Given the description of an element on the screen output the (x, y) to click on. 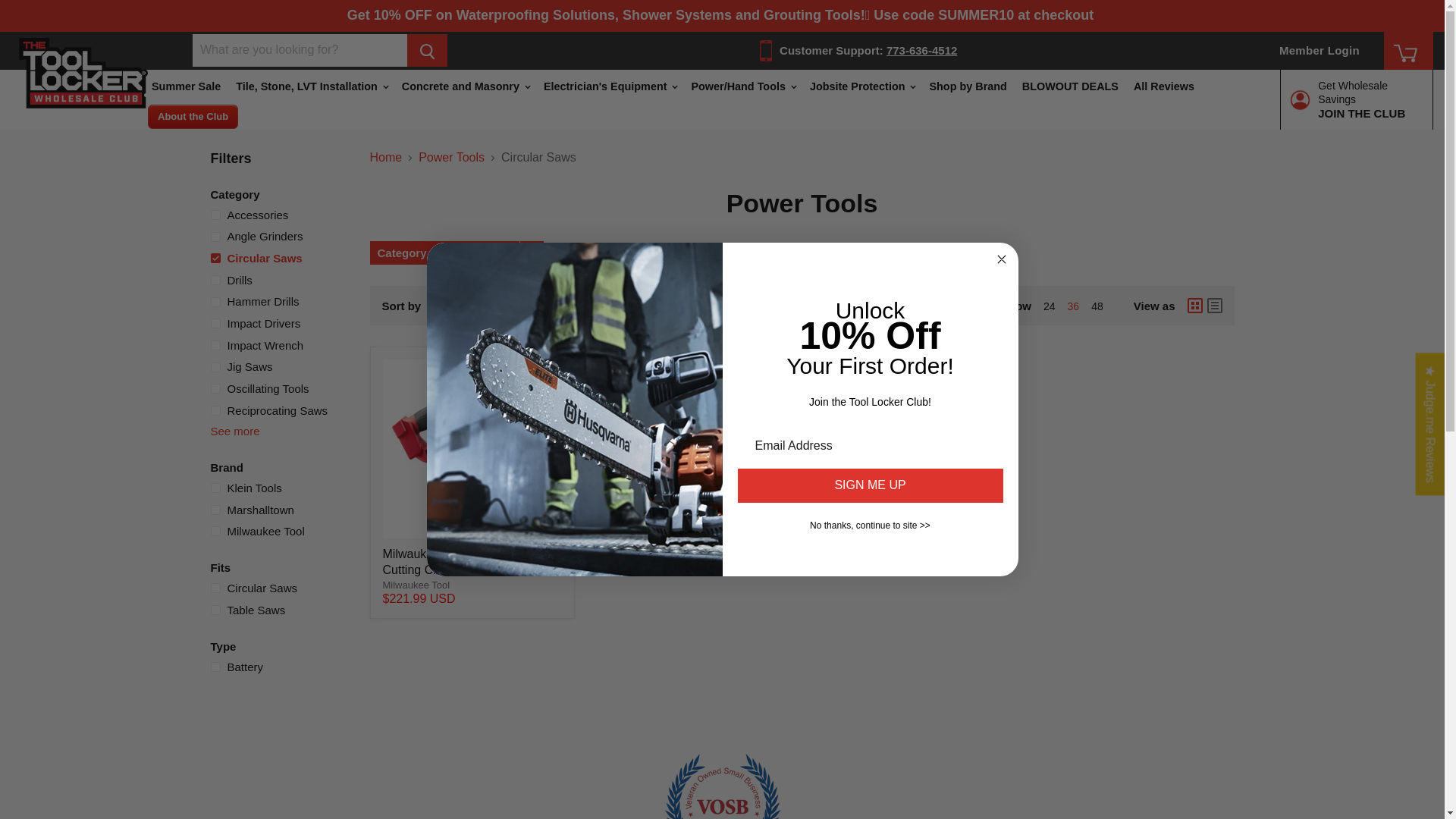
Member Login (1318, 50)
Concrete and Masonry (464, 86)
Summer Sale (186, 86)
View cart (1406, 55)
Tile, Stone, LVT Installation (311, 86)
773-636-4512 (921, 50)
